Given the description of an element on the screen output the (x, y) to click on. 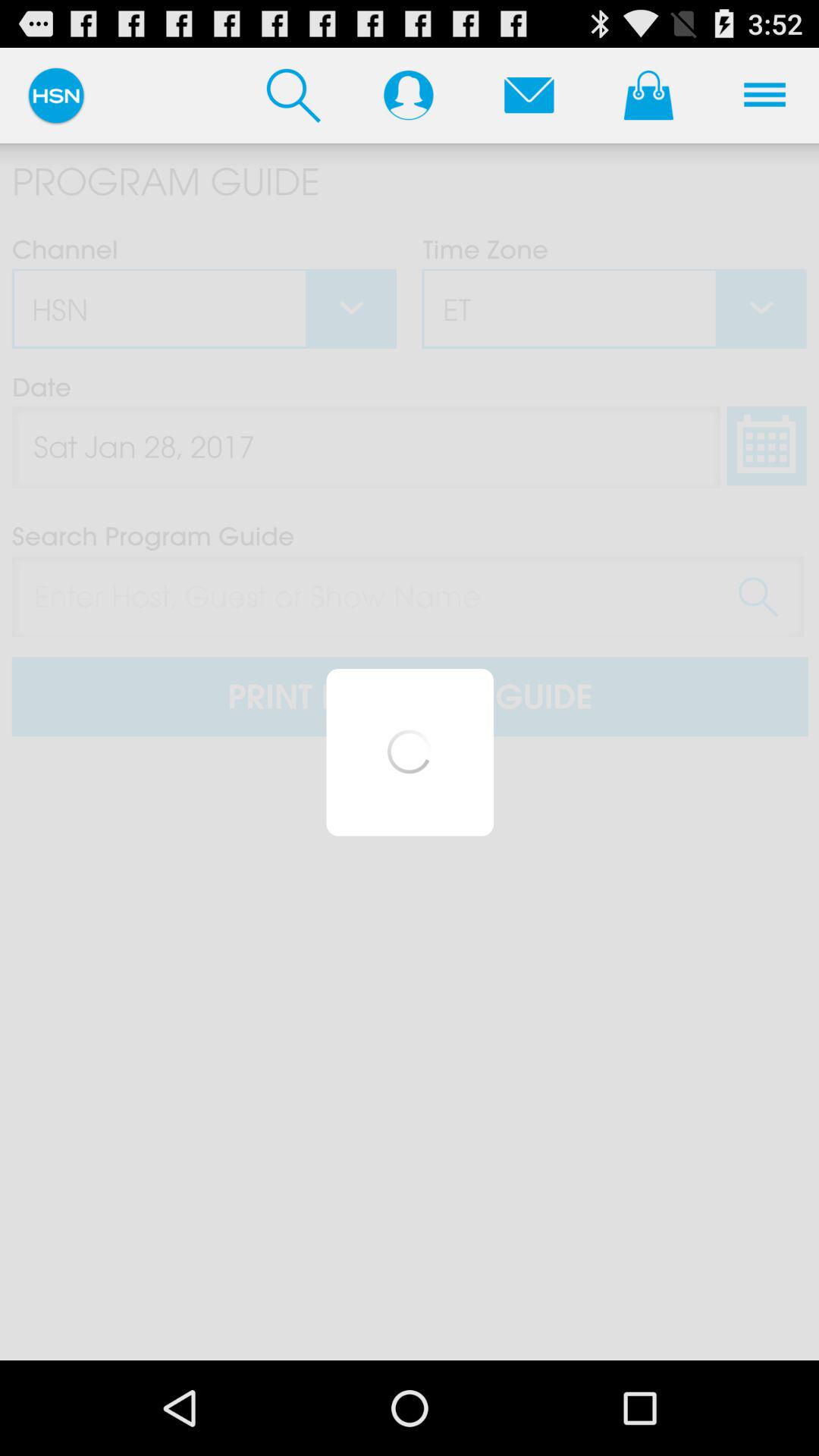
go to my profile (408, 95)
